Given the description of an element on the screen output the (x, y) to click on. 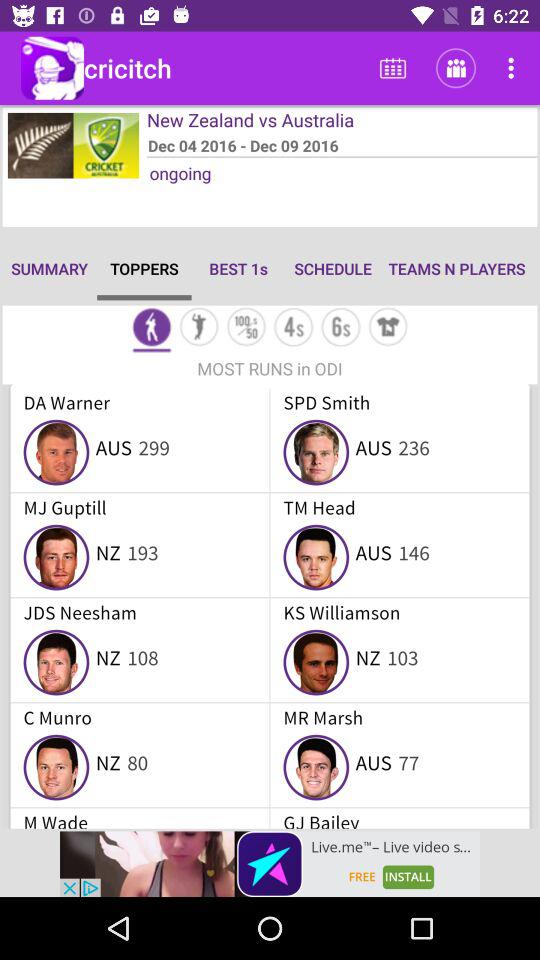
icon button (198, 328)
